Given the description of an element on the screen output the (x, y) to click on. 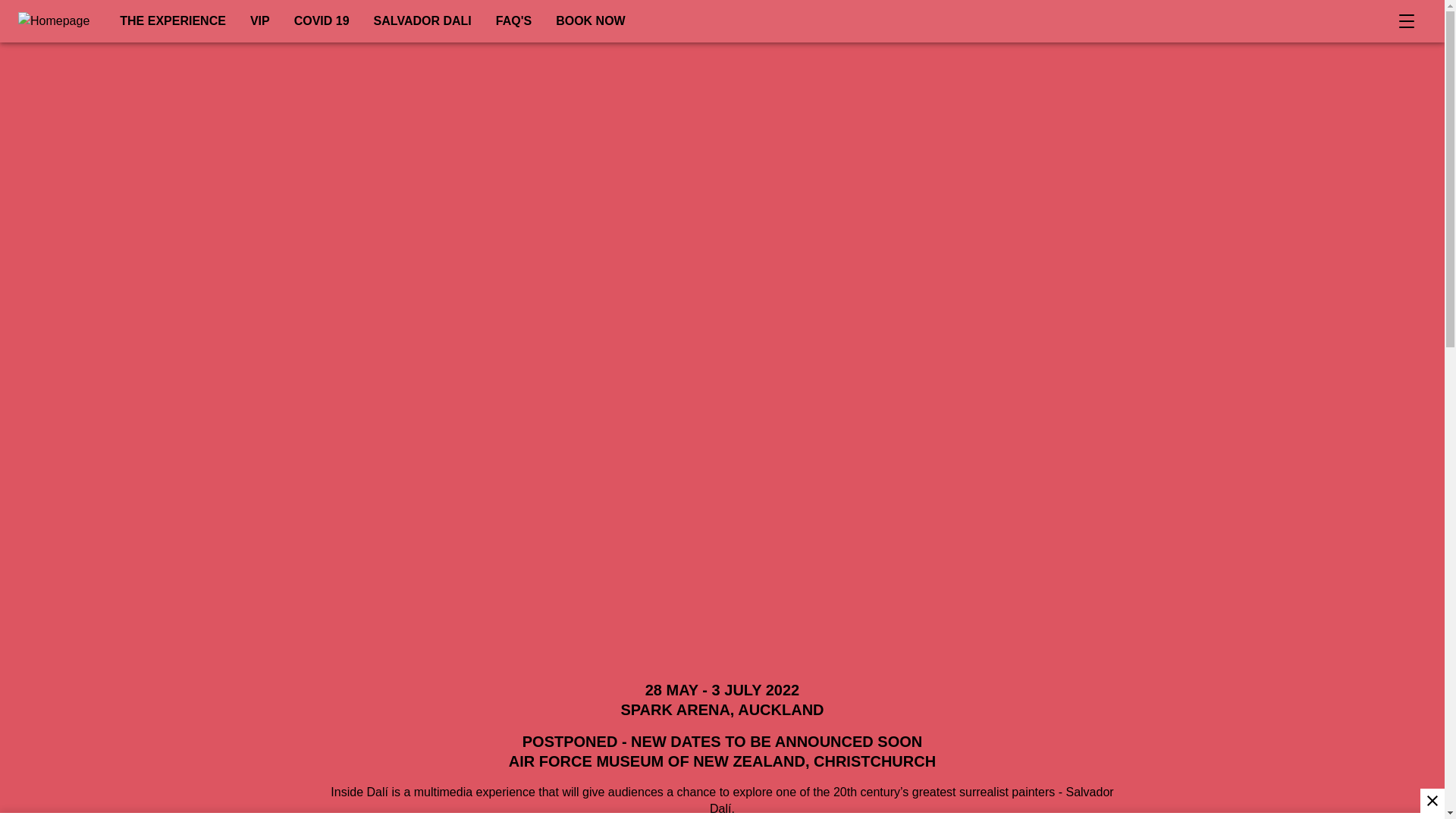
VIP (260, 21)
BOOK NOW (590, 21)
THE EXPERIENCE (172, 21)
SALVADOR DALI (422, 21)
FAQ'S (513, 21)
COVID 19 (321, 21)
